Given the description of an element on the screen output the (x, y) to click on. 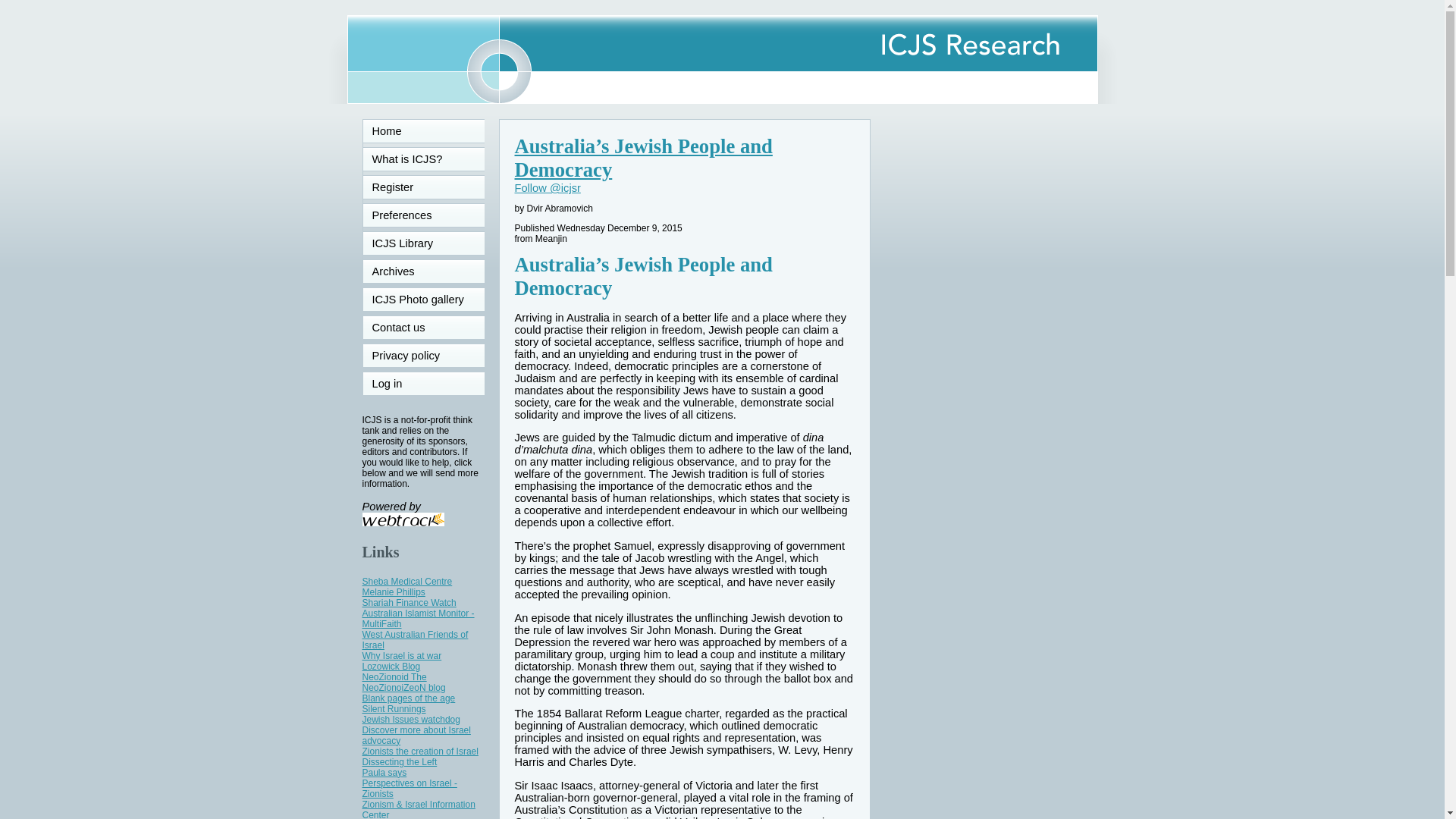
Discover more about Israel advocacy (416, 735)
Australian Islamist Monitor - MultiFaith (418, 618)
Register (422, 187)
What is ICJS? (422, 159)
Zionists the creation of Israel (420, 751)
ICJS Photo gallery (422, 299)
Melanie Phillips (393, 592)
Archives (422, 271)
Home (422, 130)
Why Israel is at war (402, 655)
Log in       (422, 383)
Silent Runnings (394, 708)
Preferences (422, 214)
Perspectives on Israel - Zionists (409, 788)
Paula says (384, 772)
